Given the description of an element on the screen output the (x, y) to click on. 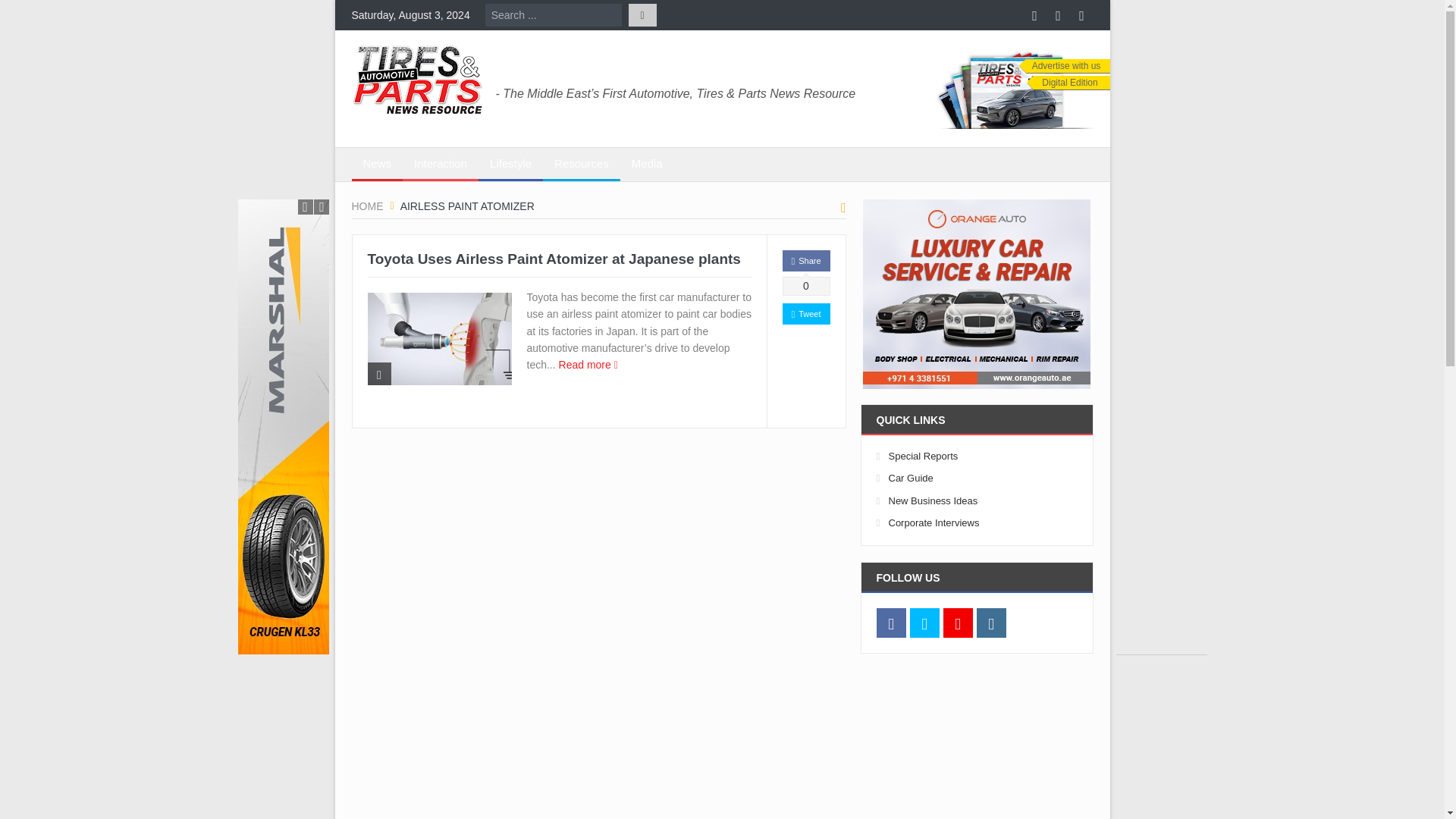
Lifestyle (511, 163)
Digital Edition (1067, 83)
Interaction (441, 163)
Advertise with us (1064, 65)
News (377, 163)
